Given the description of an element on the screen output the (x, y) to click on. 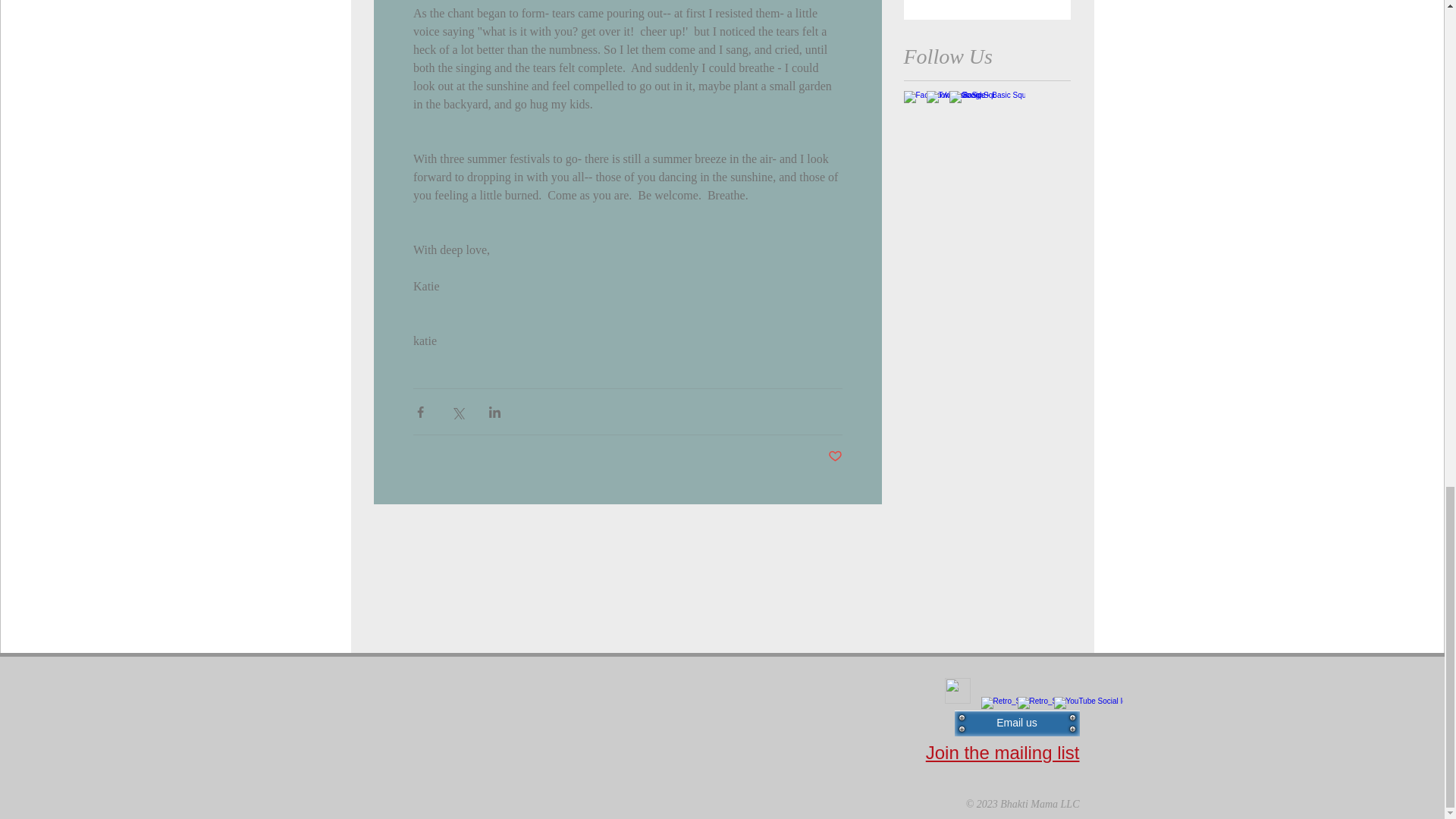
Join the mailing list (1003, 752)
Email us (1015, 723)
Post not marked as liked (835, 456)
